Given the description of an element on the screen output the (x, y) to click on. 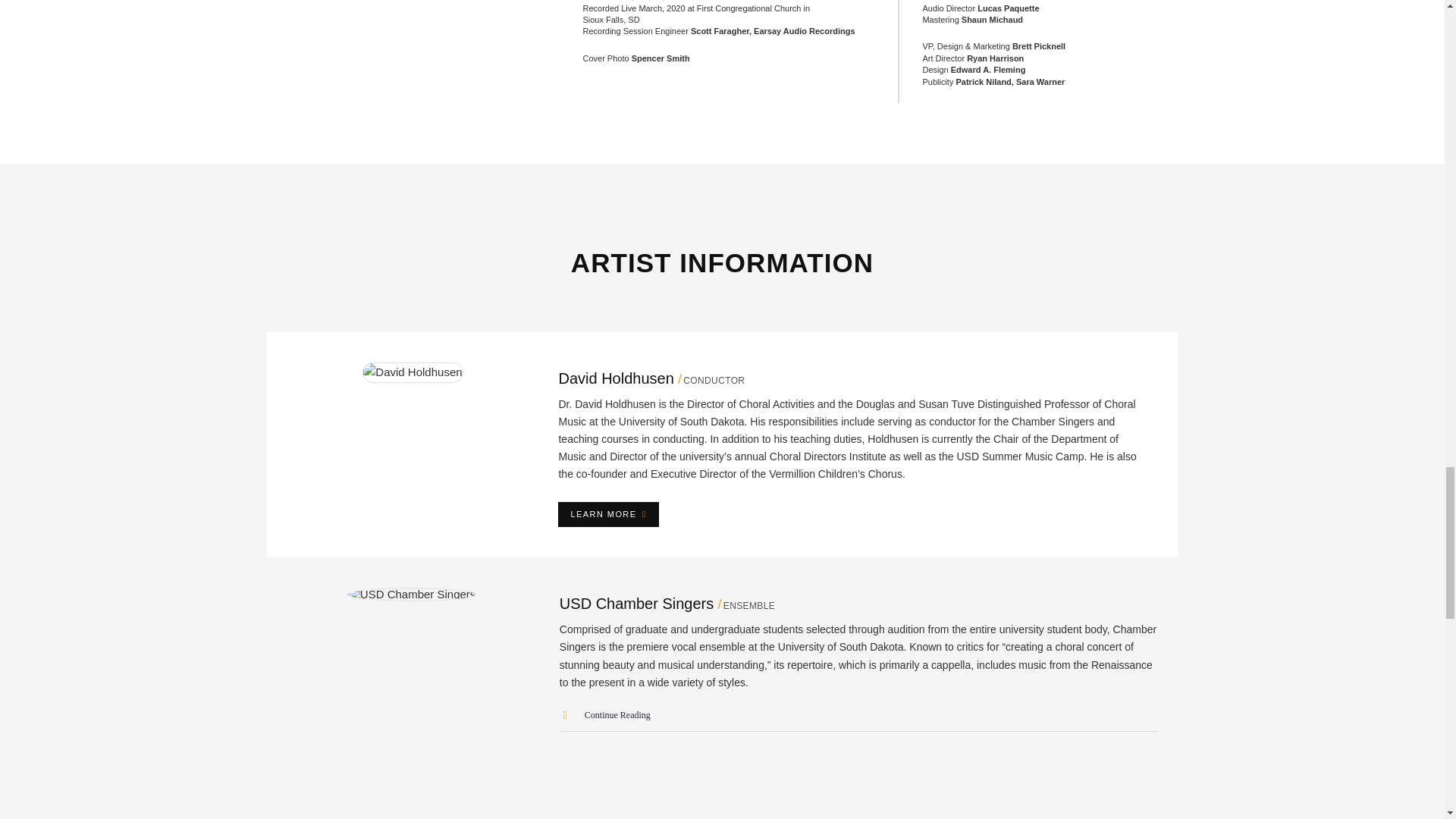
LEARN MORE (607, 514)
USD-Chamber-Singers (411, 594)
Continue Reading (604, 715)
